Given the description of an element on the screen output the (x, y) to click on. 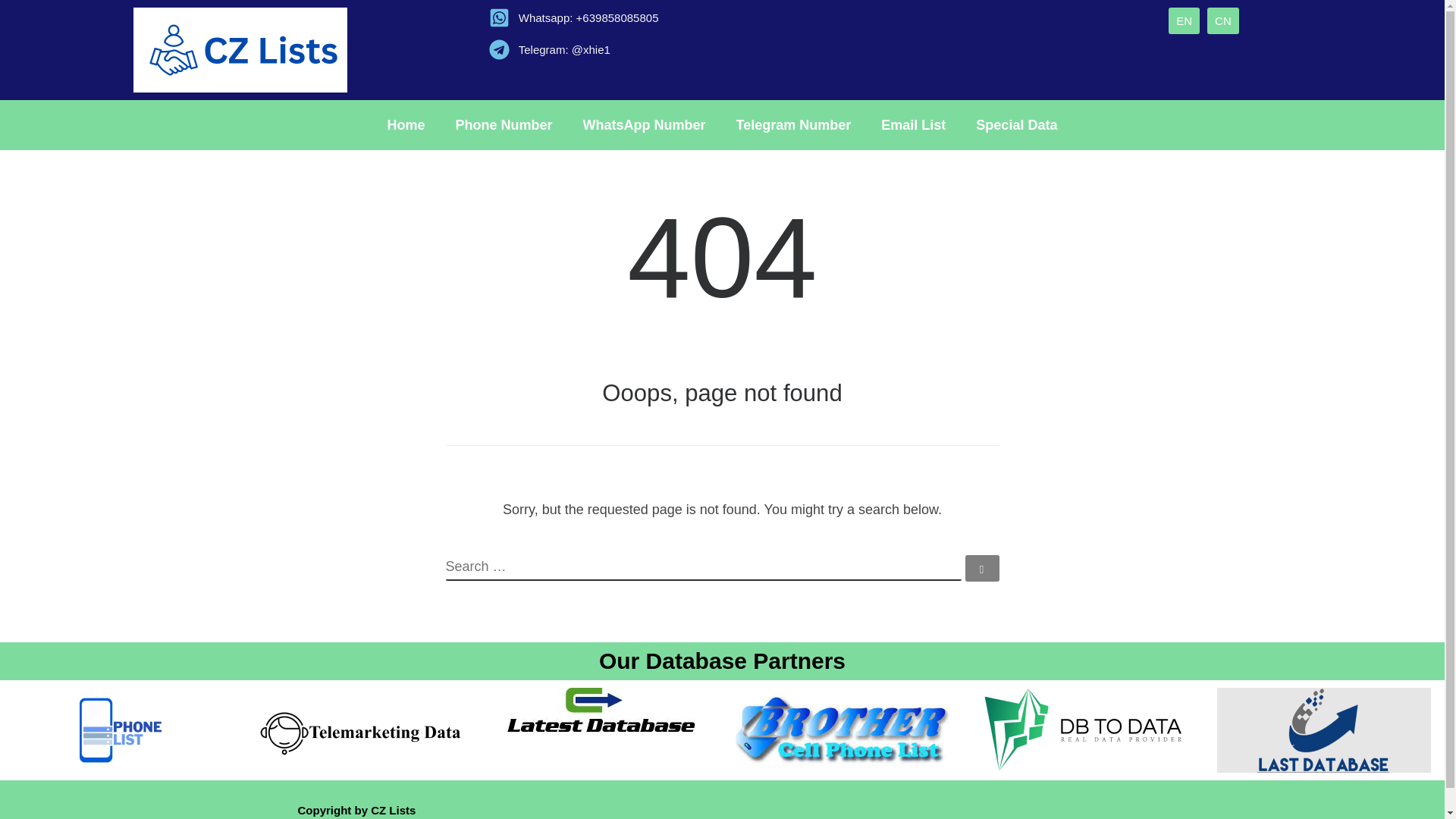
Home (406, 124)
Special Data (1015, 124)
Telegram Number (793, 124)
EN (1184, 20)
CZ Lists (392, 809)
Email List (913, 124)
Phone Number (504, 124)
CN (1223, 20)
WhatsApp Number (643, 124)
